Given the description of an element on the screen output the (x, y) to click on. 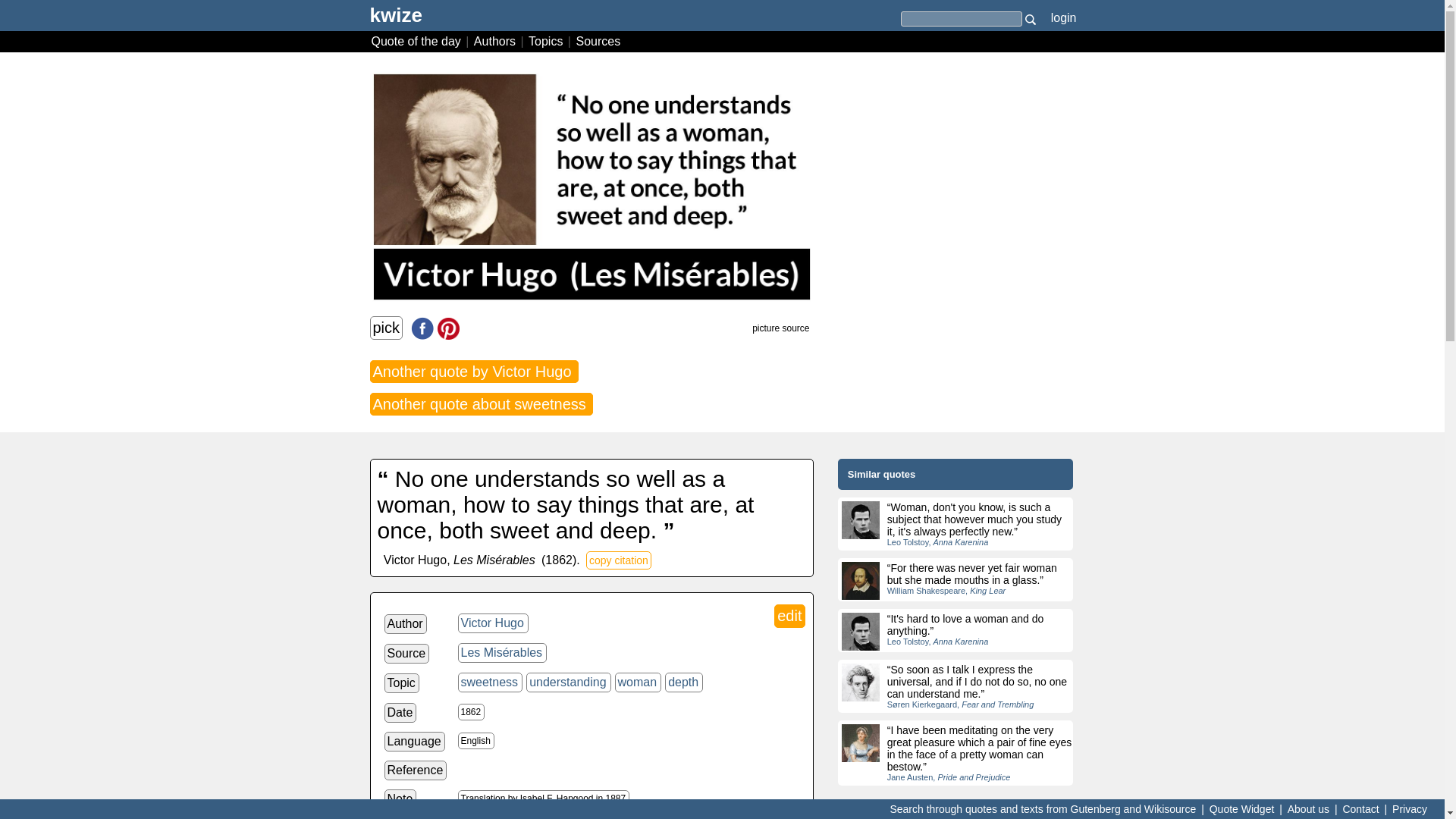
understanding (567, 682)
login (1063, 18)
kwize (395, 19)
depth (684, 682)
picture source (780, 327)
Victor Hugo (493, 623)
Quote of the day (417, 41)
Another quote about sweetness  (481, 404)
kwize (395, 19)
